Given the description of an element on the screen output the (x, y) to click on. 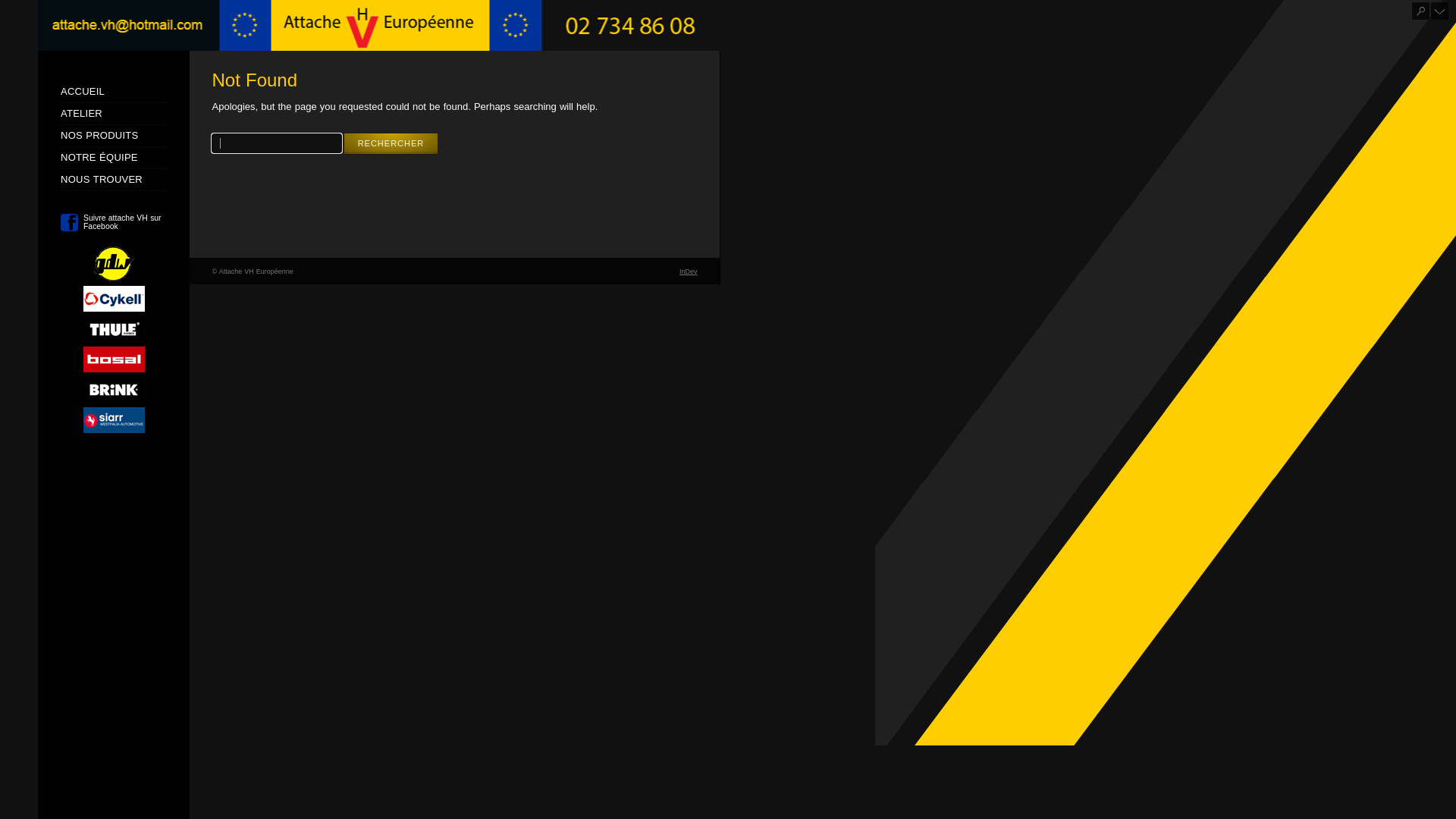
NOS PRODUITS Element type: text (99, 135)
ACCUEIL Element type: text (82, 91)
submit Element type: text (1420, 10)
NOUS TROUVER Element type: text (101, 179)
InDev Element type: text (688, 271)
ATELIER Element type: text (81, 113)
Suivre attache VH sur Facebook Element type: text (113, 222)
Rechercher Element type: text (391, 143)
